Given the description of an element on the screen output the (x, y) to click on. 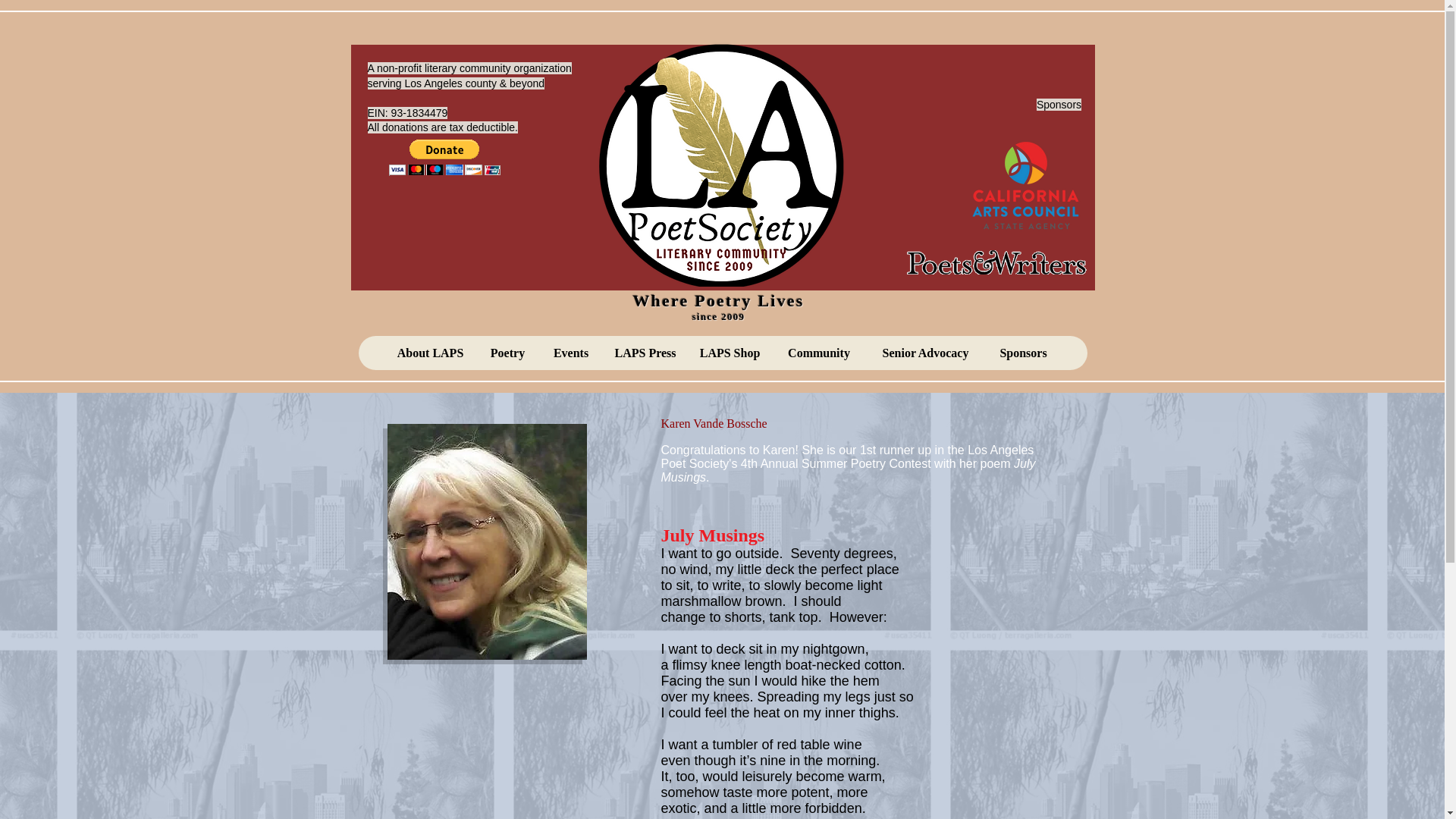
Community (818, 352)
Senior Advocacy (925, 352)
Events (570, 352)
Sponsors (1022, 352)
Poetry (507, 352)
LAPS Press (644, 352)
LAPS Shop (729, 352)
About LAPS (430, 352)
